Given the description of an element on the screen output the (x, y) to click on. 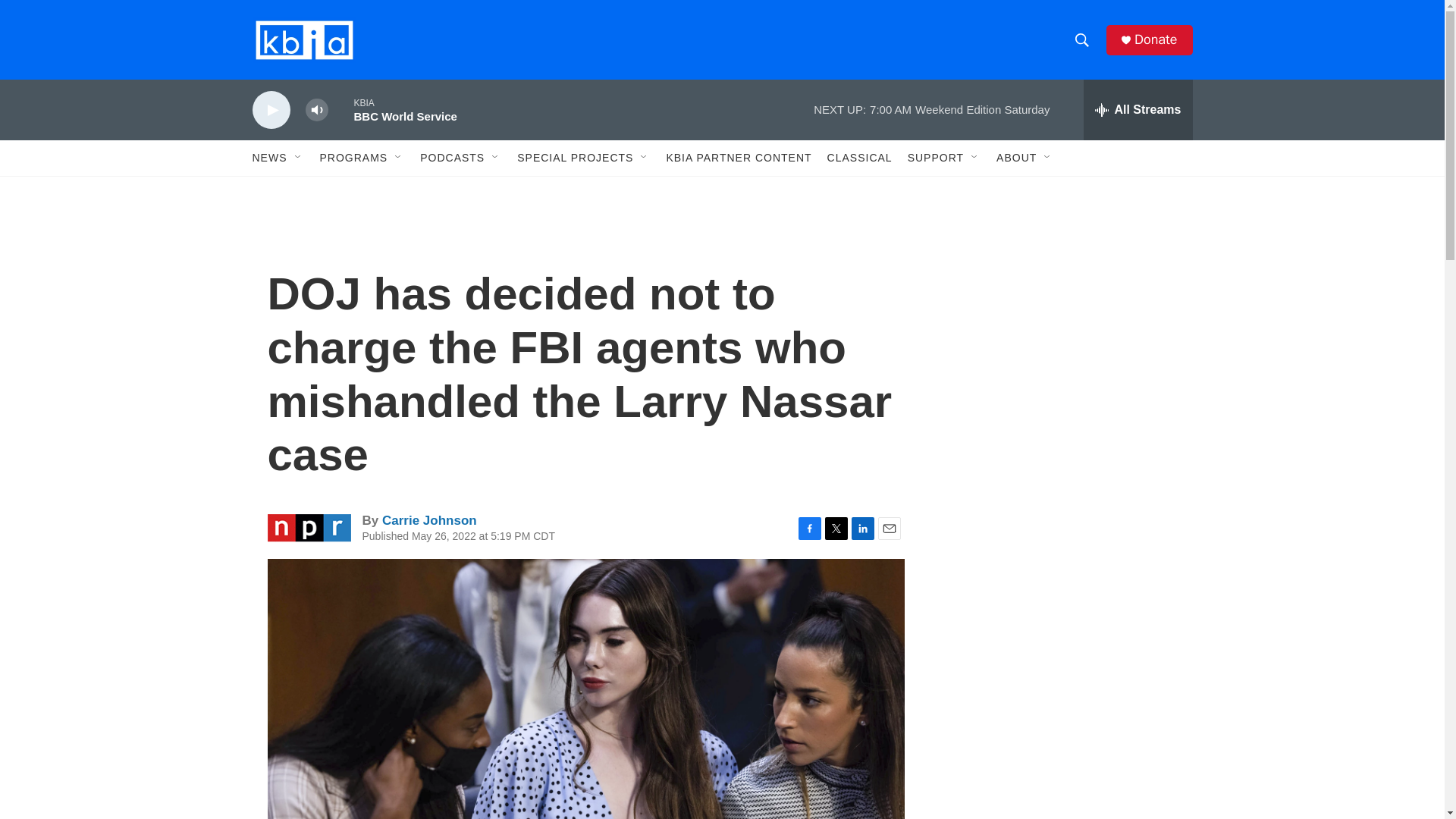
3rd party ad content (1062, 740)
3rd party ad content (1062, 536)
3rd party ad content (1062, 316)
